Given the description of an element on the screen output the (x, y) to click on. 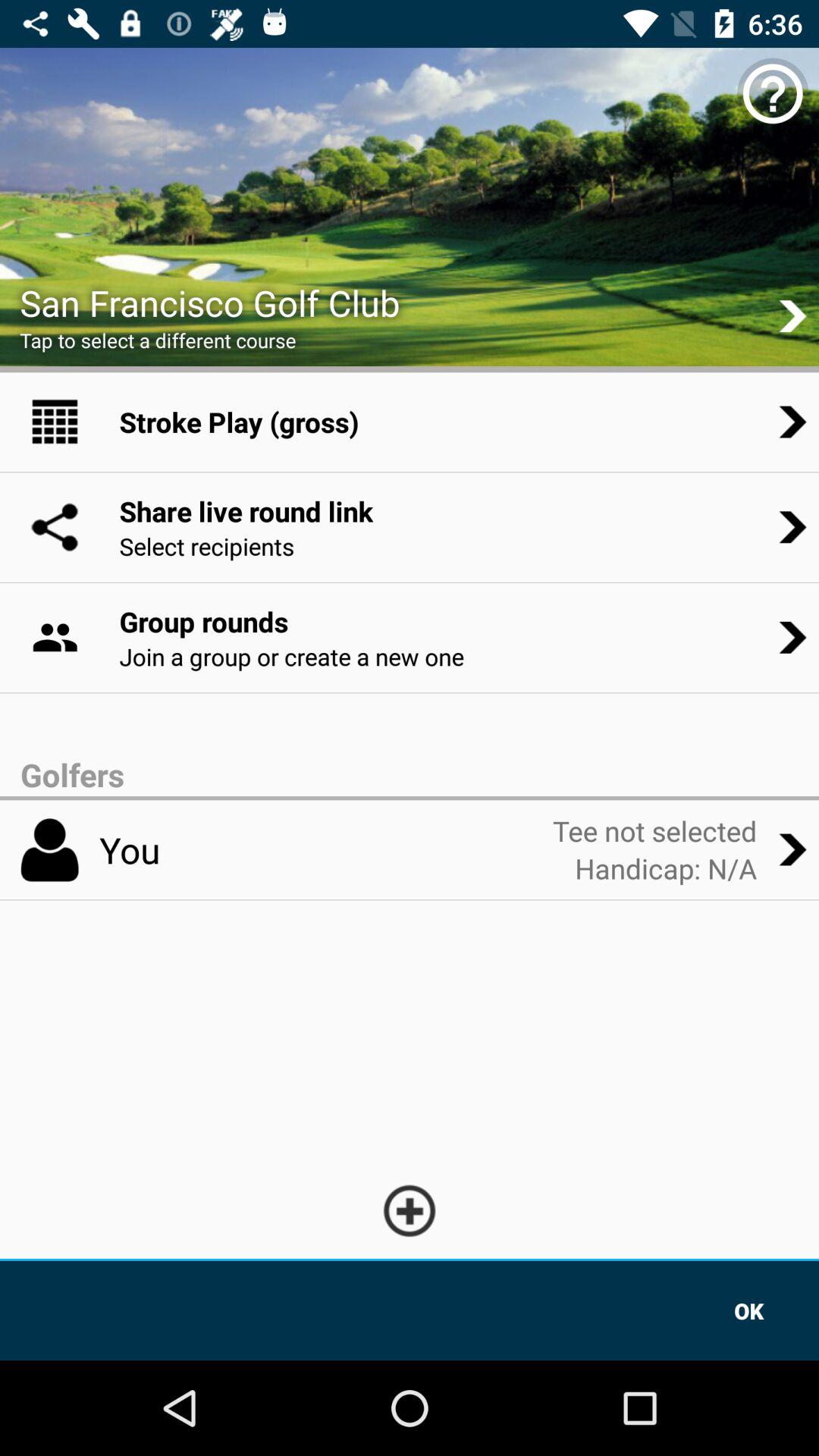
add a golfer (409, 1210)
